Given the description of an element on the screen output the (x, y) to click on. 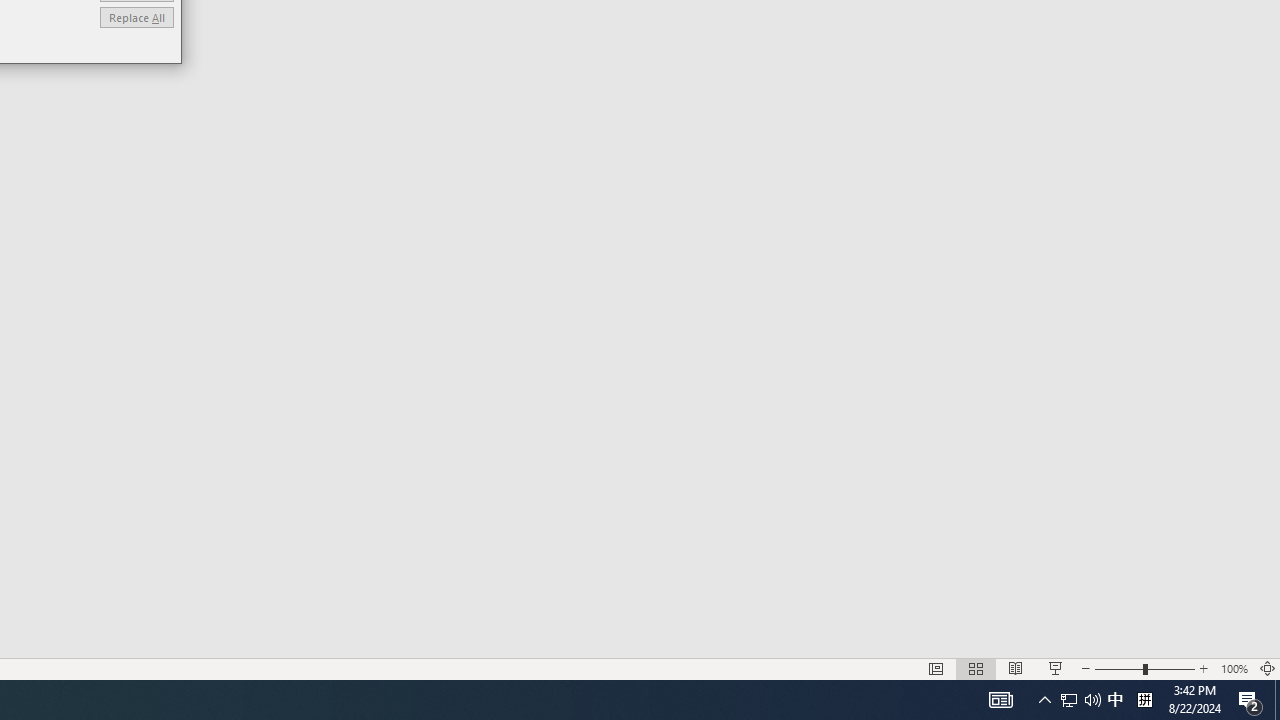
Show desktop (1277, 699)
User Promoted Notification Area (1080, 699)
Q2790: 100% (1092, 699)
